Given the description of an element on the screen output the (x, y) to click on. 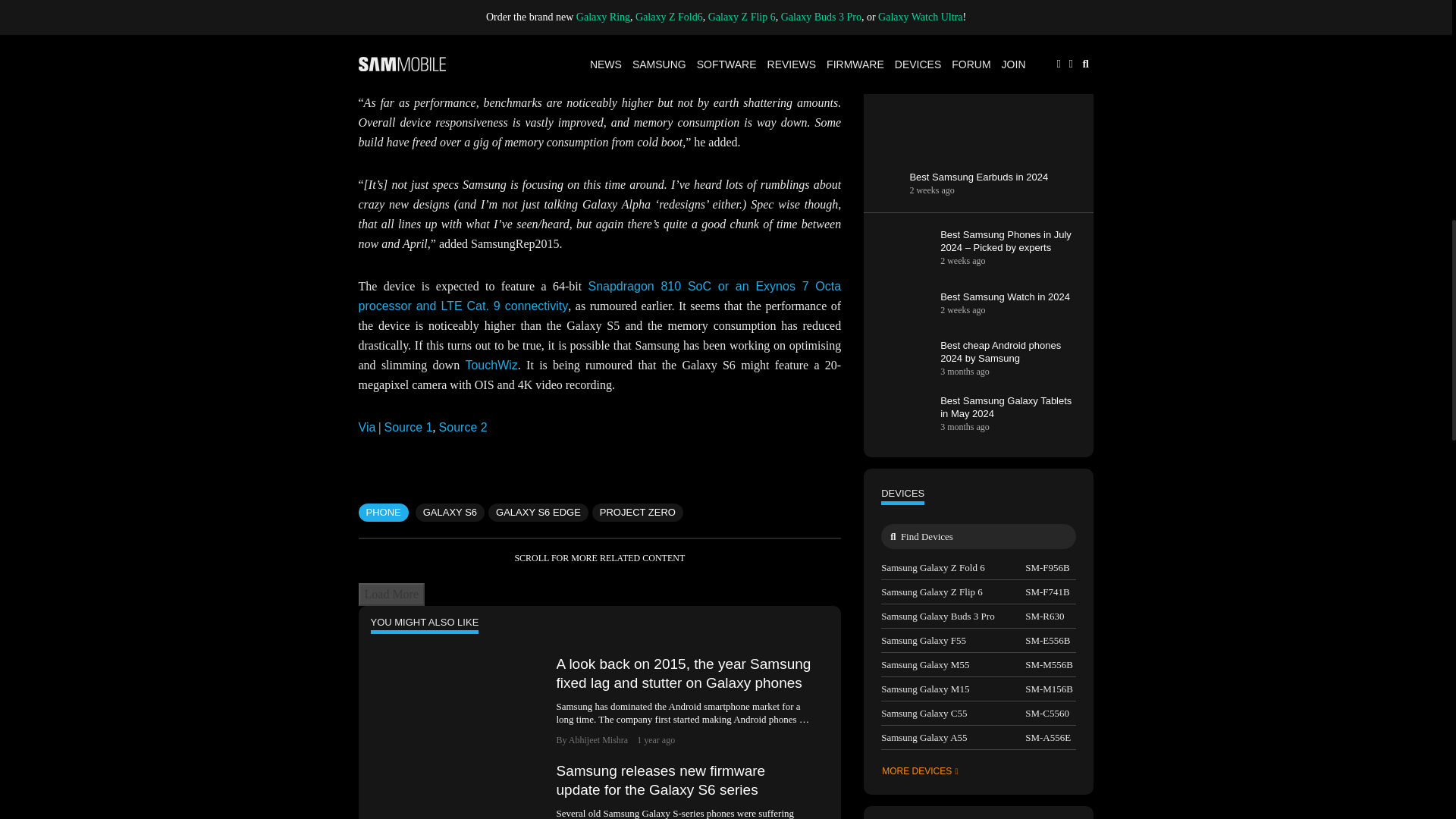
SCROLL FOR MORE RELATED CONTENT (599, 558)
